Given the description of an element on the screen output the (x, y) to click on. 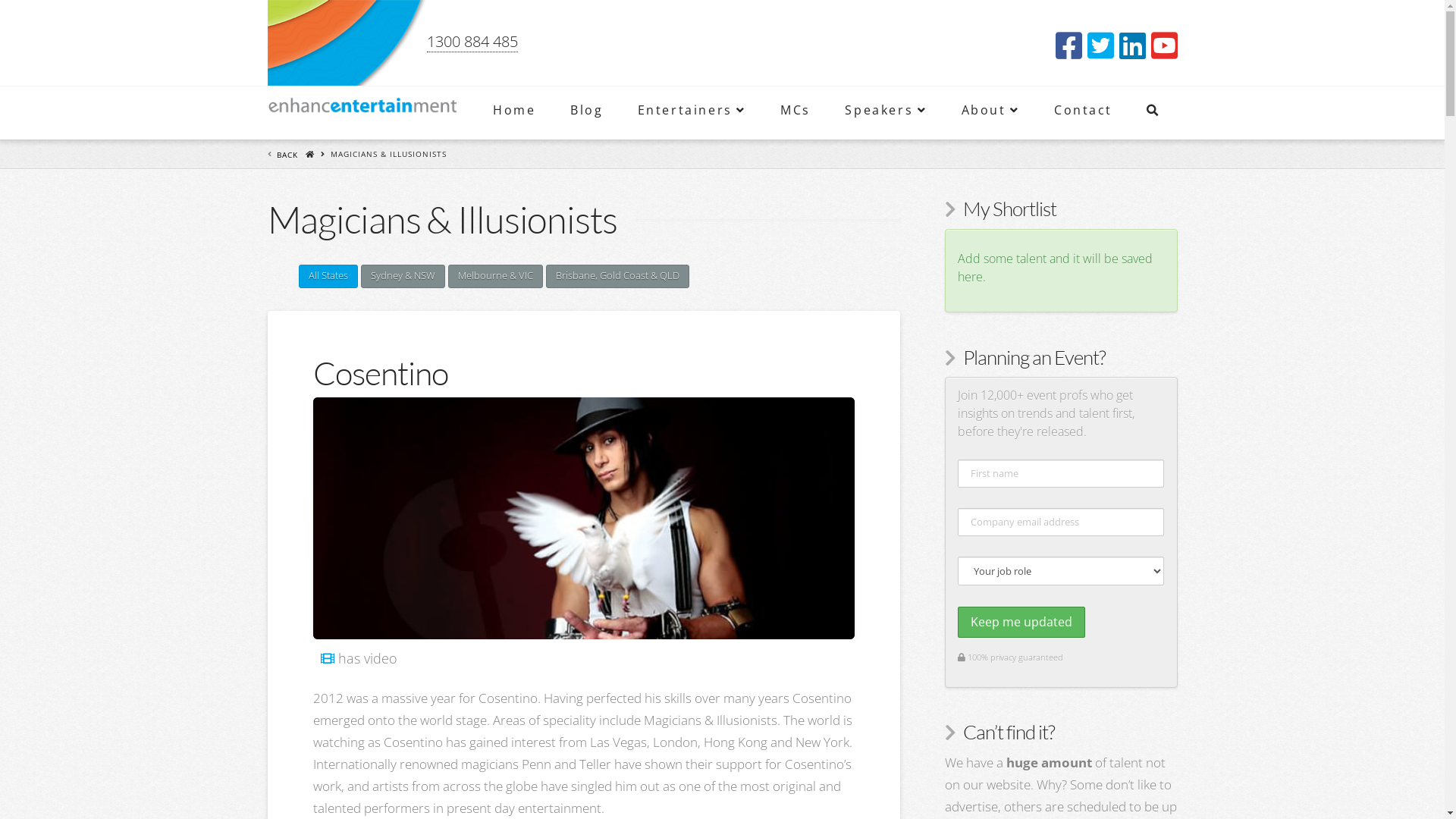
BACK Element type: text (286, 154)
Entertainers Element type: text (690, 112)
Twitter Element type: hover (1100, 45)
Contact Element type: text (1082, 112)
Facebook Element type: hover (1068, 45)
Speakers Element type: text (884, 112)
Keep me updated Element type: text (1021, 621)
Brisbane, Gold Coast & QLD Element type: text (617, 276)
LinkedIn Element type: hover (1132, 45)
1300 884 485 Element type: text (471, 41)
Sydney & NSW Element type: text (402, 276)
Cosentino has video Element type: hover (326, 658)
MCs Element type: text (794, 112)
All States Element type: text (327, 276)
Home Element type: text (513, 112)
Cosentino Element type: text (379, 372)
About Element type: text (989, 112)
Blog Element type: text (585, 112)
YouTube Element type: hover (1164, 45)
Melbourne & VIC Element type: text (495, 276)
cosentino Element type: hover (582, 518)
